Given the description of an element on the screen output the (x, y) to click on. 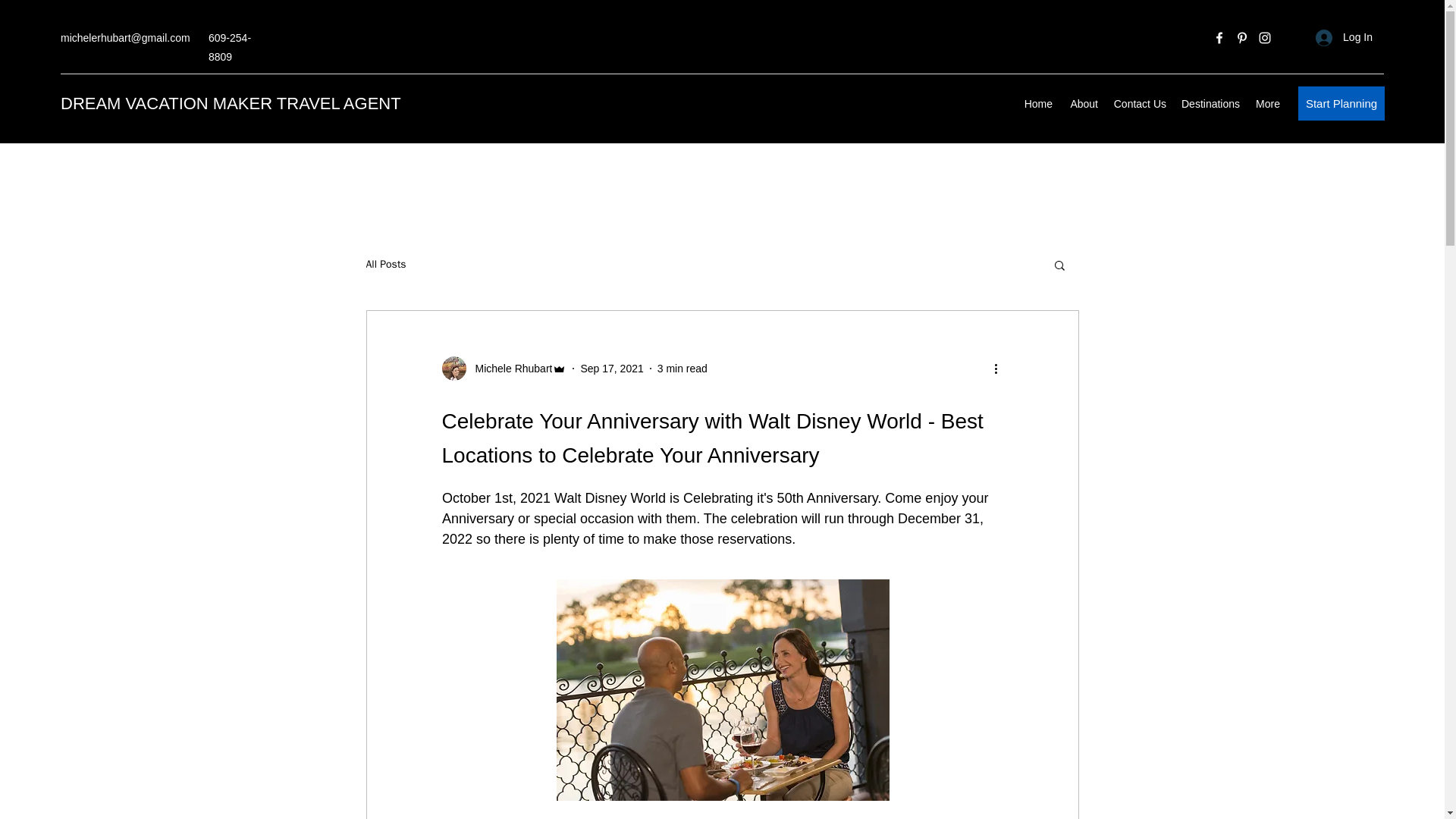
Destinations (1210, 103)
3 min read (682, 368)
Start Planning (1341, 103)
Contact Us (1139, 103)
Log In (1343, 37)
Michele Rhubart (503, 368)
All Posts (385, 264)
Michele Rhubart (508, 368)
DREAM VACATION MAKER TRAVEL AGENT (231, 103)
Home (1037, 103)
